Given the description of an element on the screen output the (x, y) to click on. 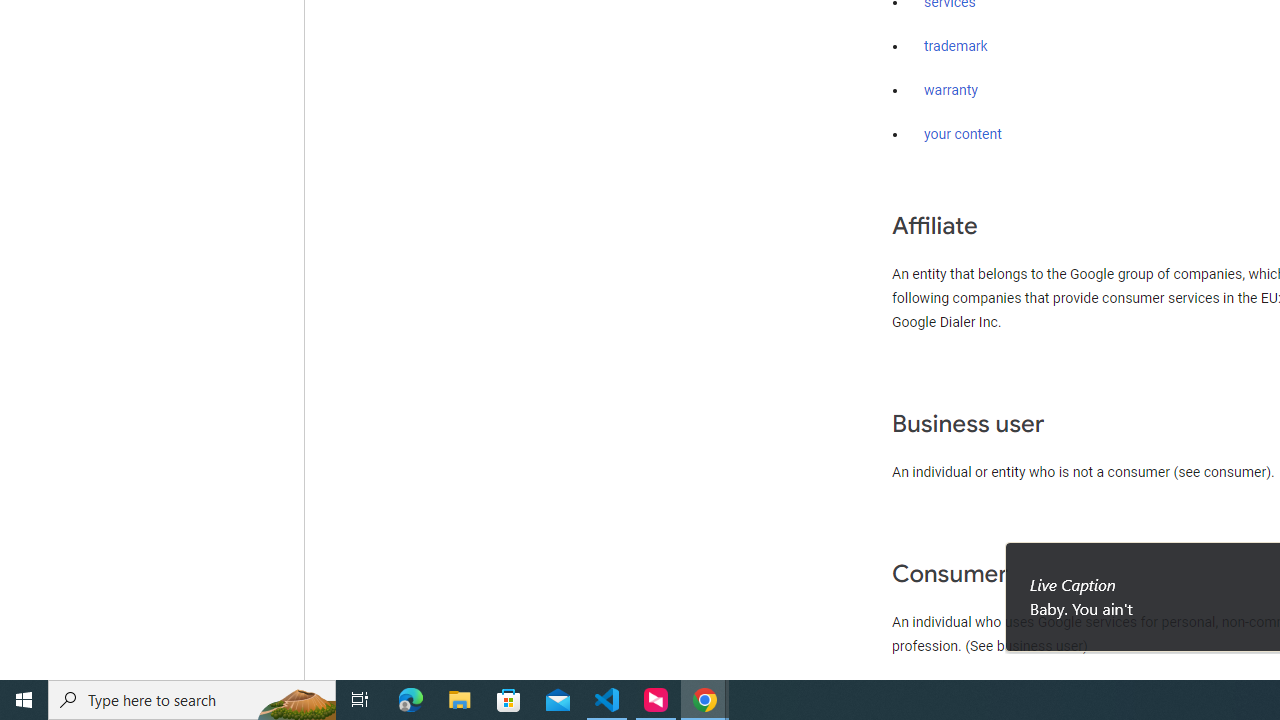
trademark (956, 47)
warranty (950, 91)
your content (963, 134)
